Given the description of an element on the screen output the (x, y) to click on. 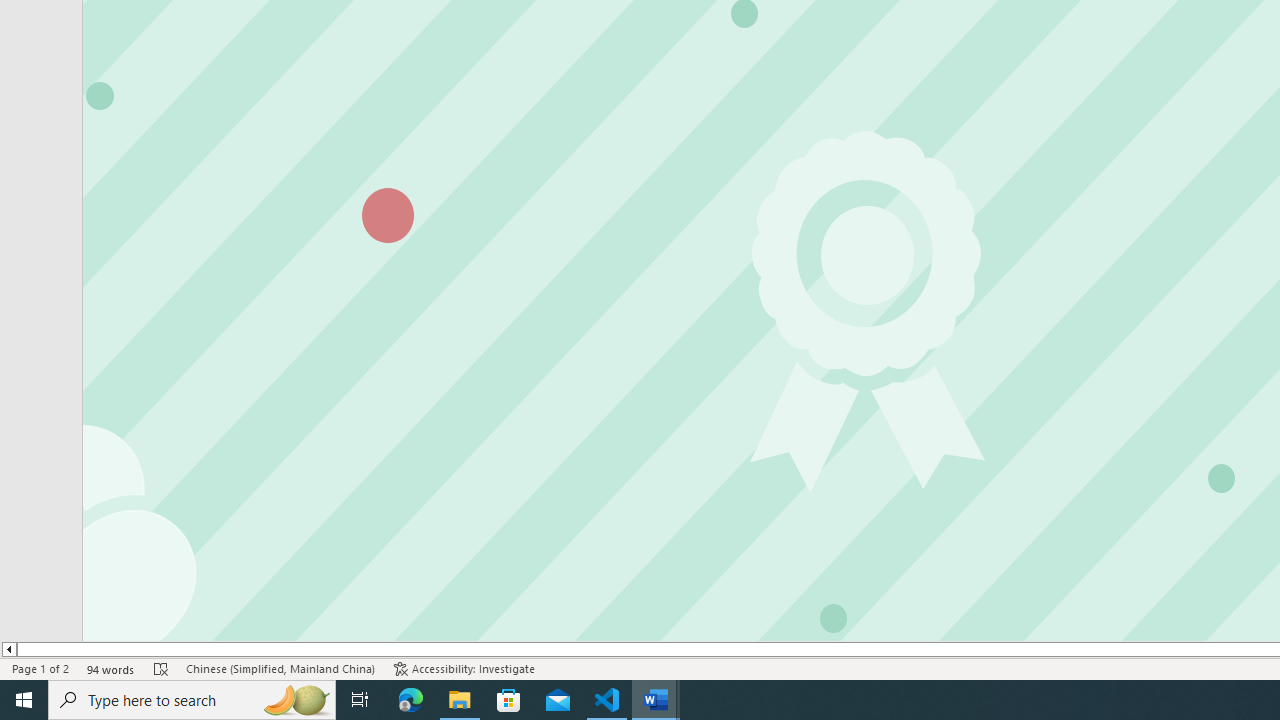
Word Count 94 words (111, 668)
Page Number Page 1 of 2 (39, 668)
Column left (8, 649)
